Given the description of an element on the screen output the (x, y) to click on. 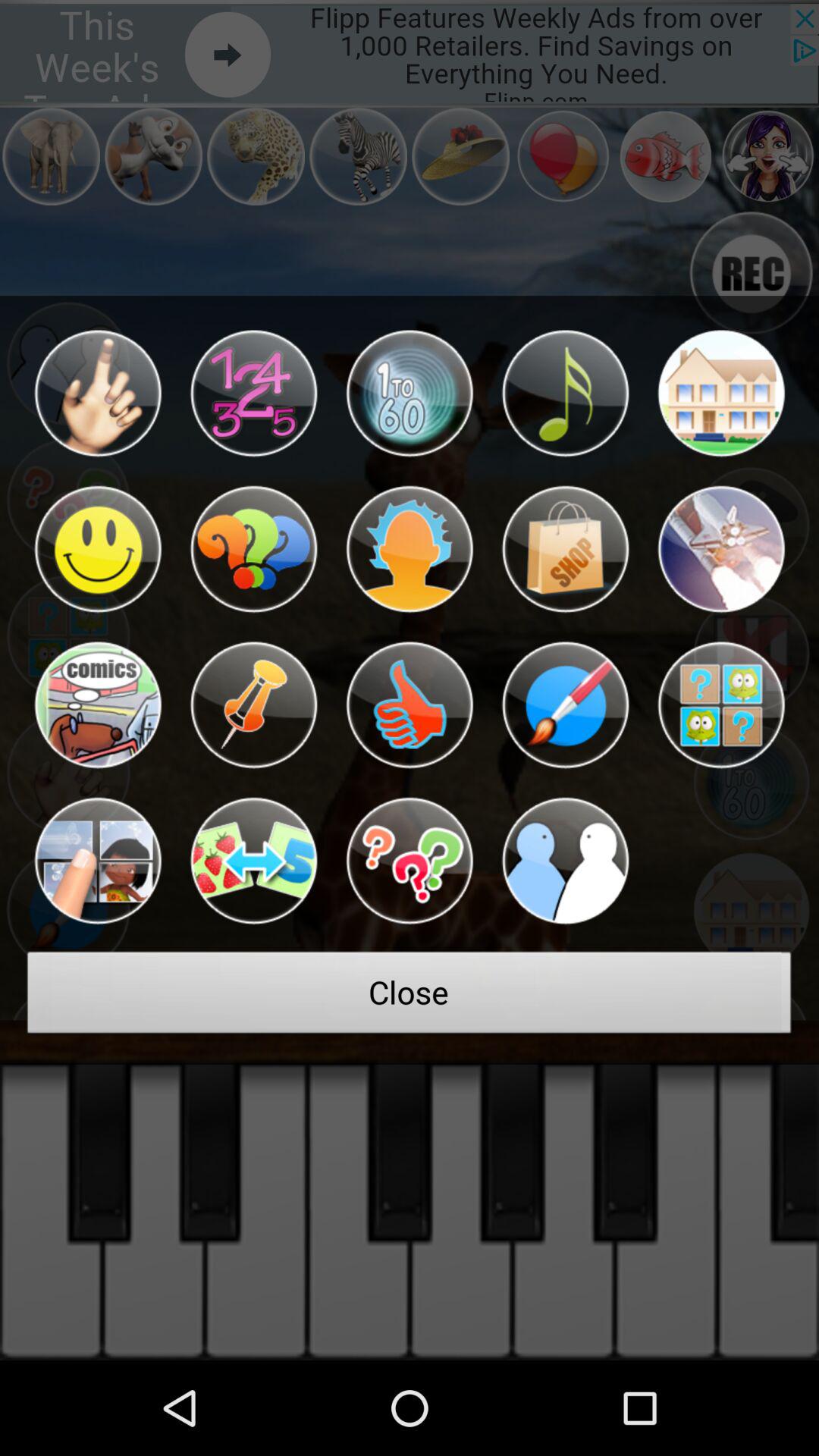
go to emoji (97, 705)
